Given the description of an element on the screen output the (x, y) to click on. 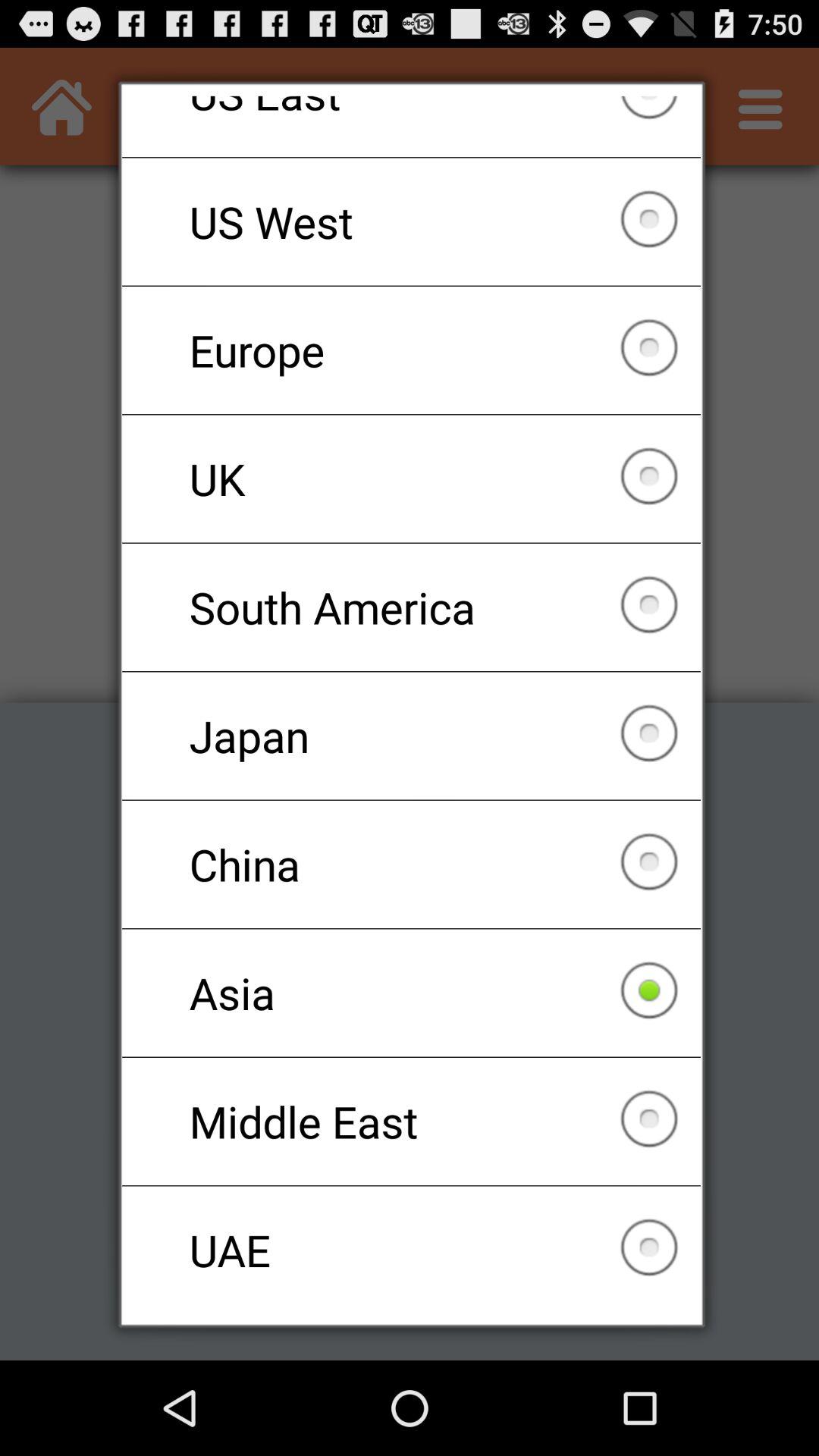
swipe to the     middle east (411, 1121)
